Given the description of an element on the screen output the (x, y) to click on. 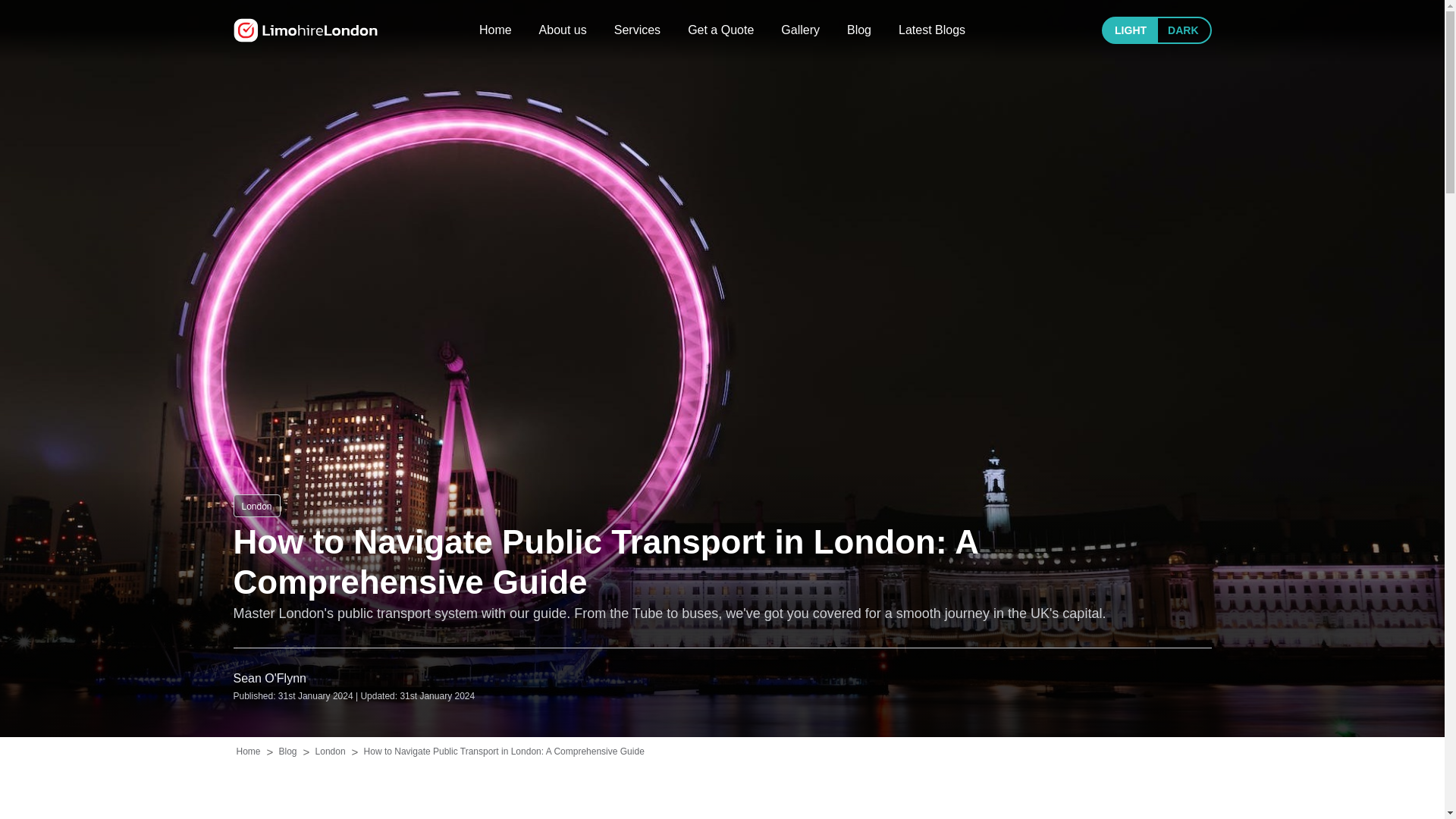
Latest Blogs (931, 30)
Get a Quote (720, 30)
Get a Quote (720, 30)
Limo Hire London (304, 30)
Latest Blogs (931, 30)
